Given the description of an element on the screen output the (x, y) to click on. 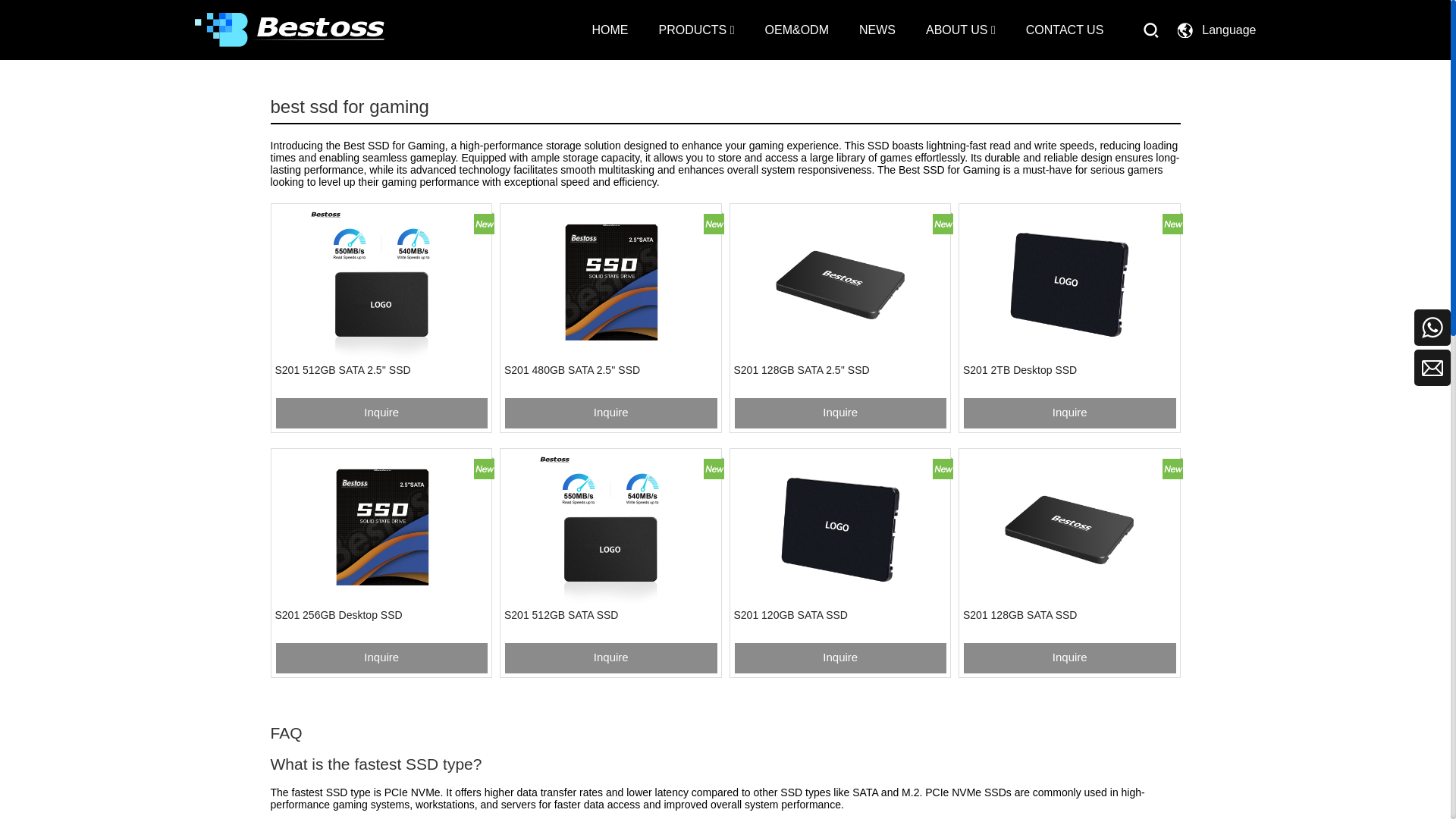
Inquire (381, 657)
CONTACT US (1064, 29)
NEWS (877, 29)
Inquire (610, 413)
S201 512GB SATA 2.5'' SSD (381, 283)
S201 256GB Desktop SSD (381, 528)
Inquire (1069, 413)
S201 512GB SATA 2.5'' SSD (381, 283)
PRODUCTS (695, 29)
S201 480GB SATA 2.5'' SSD (609, 283)
S201 512GB SATA SSD (609, 528)
Inquire (840, 413)
S201 120GB SATA SSD (839, 528)
HOME (609, 29)
Inquire (381, 413)
